Given the description of an element on the screen output the (x, y) to click on. 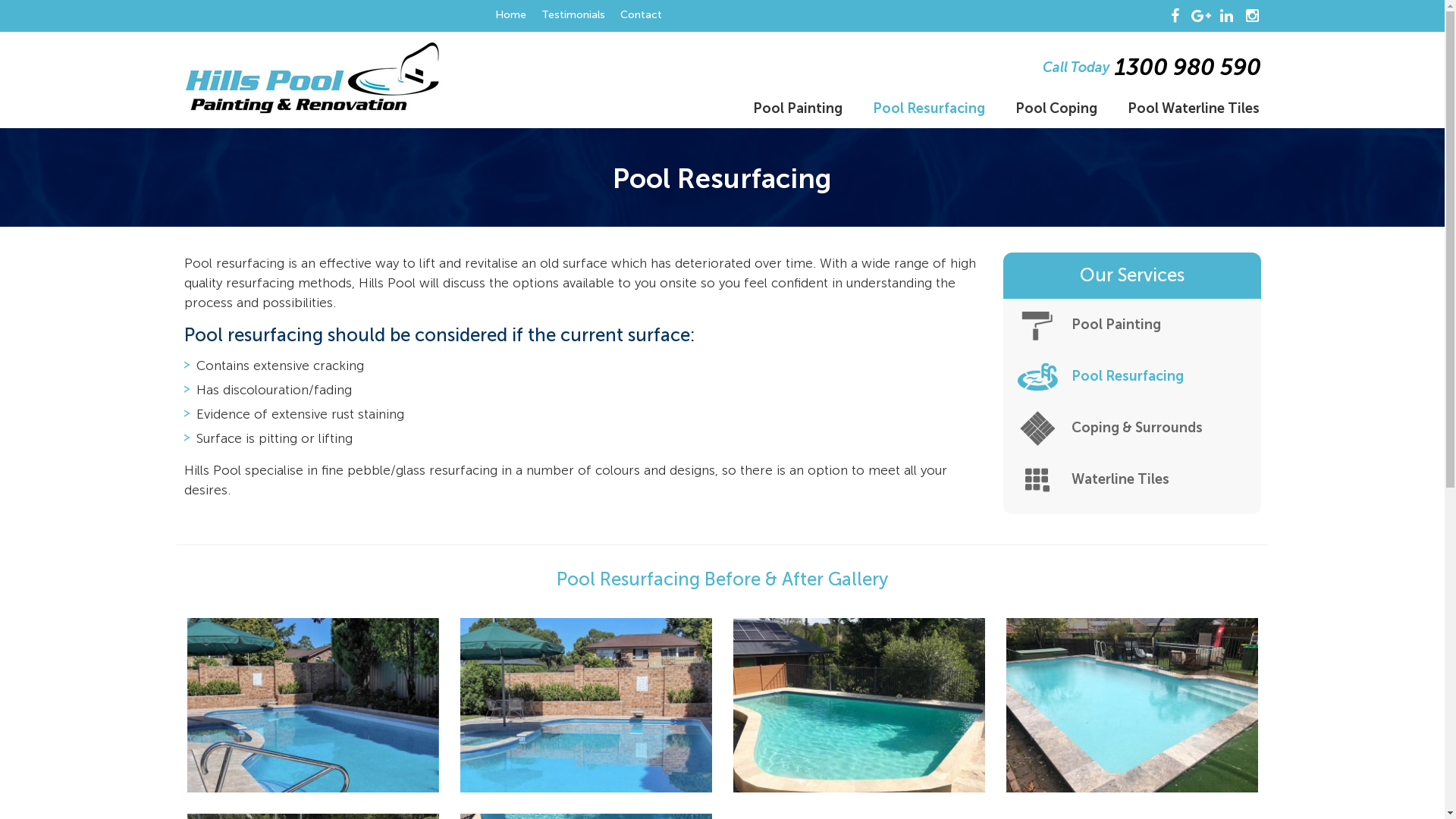
Pool Resurfacing Element type: text (1131, 375)
LinkedIn Element type: hover (1226, 15)
Pool Waterline Tiles Element type: text (1192, 109)
Coping & Surrounds Element type: text (1131, 427)
Testimonials Element type: text (573, 14)
Contact Element type: text (641, 14)
Pool Coping Element type: text (1055, 109)
Pool Resurfacing Element type: text (927, 109)
Pool Painting Element type: text (796, 109)
Google+ Element type: hover (1201, 15)
Instagram Element type: hover (1252, 15)
Waterline Tiles Element type: text (1131, 479)
IMG_2487 Element type: hover (312, 704)
Home Element type: text (509, 14)
Facebook Element type: hover (1175, 15)
Pool Painting Element type: text (1131, 324)
IMG_2488 Element type: hover (585, 704)
Pool-Resurfacing-Sydney-3- Element type: hover (1131, 704)
IMG_2519 Element type: hover (858, 704)
